Given the description of an element on the screen output the (x, y) to click on. 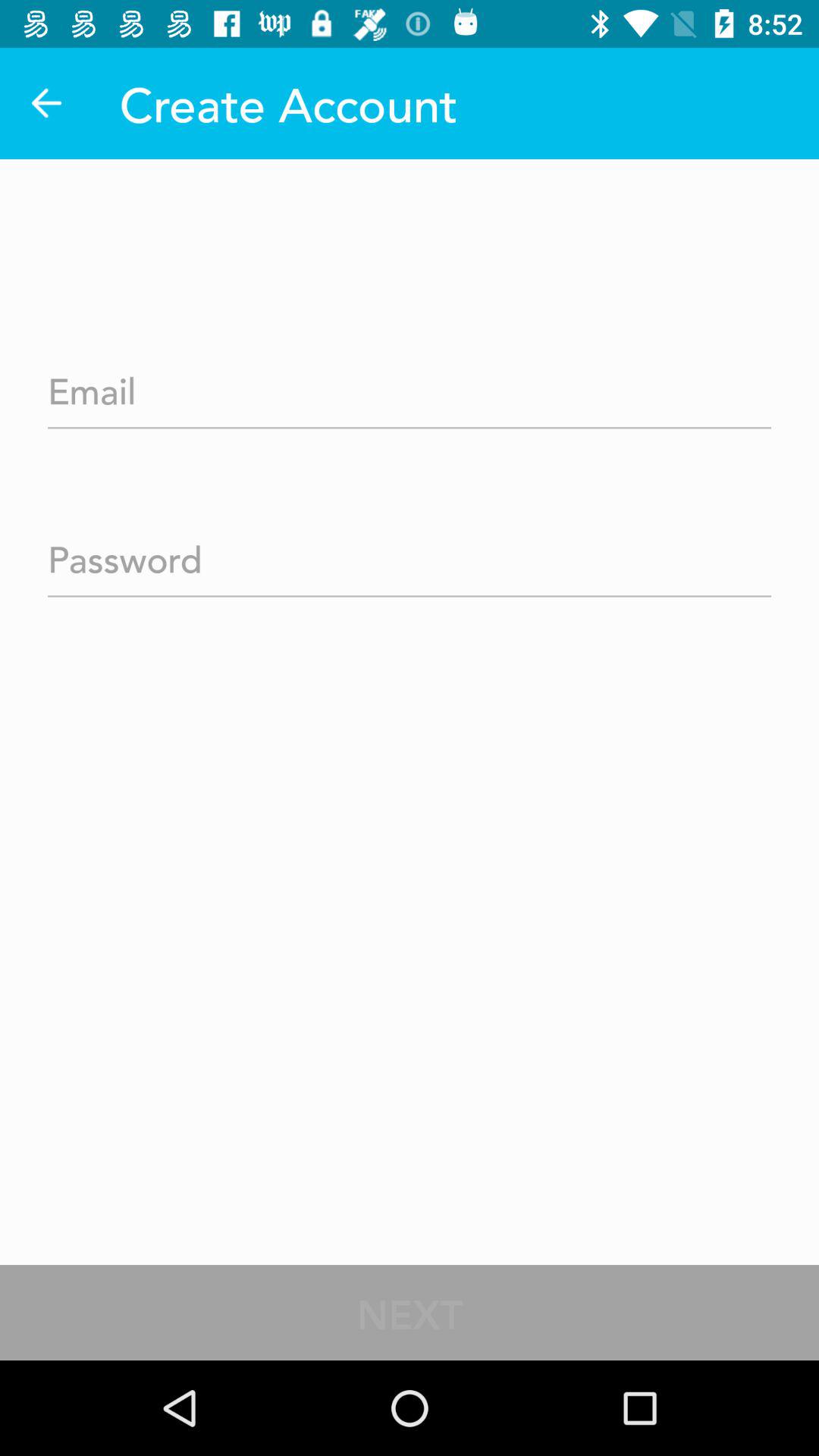
email field (409, 386)
